Given the description of an element on the screen output the (x, y) to click on. 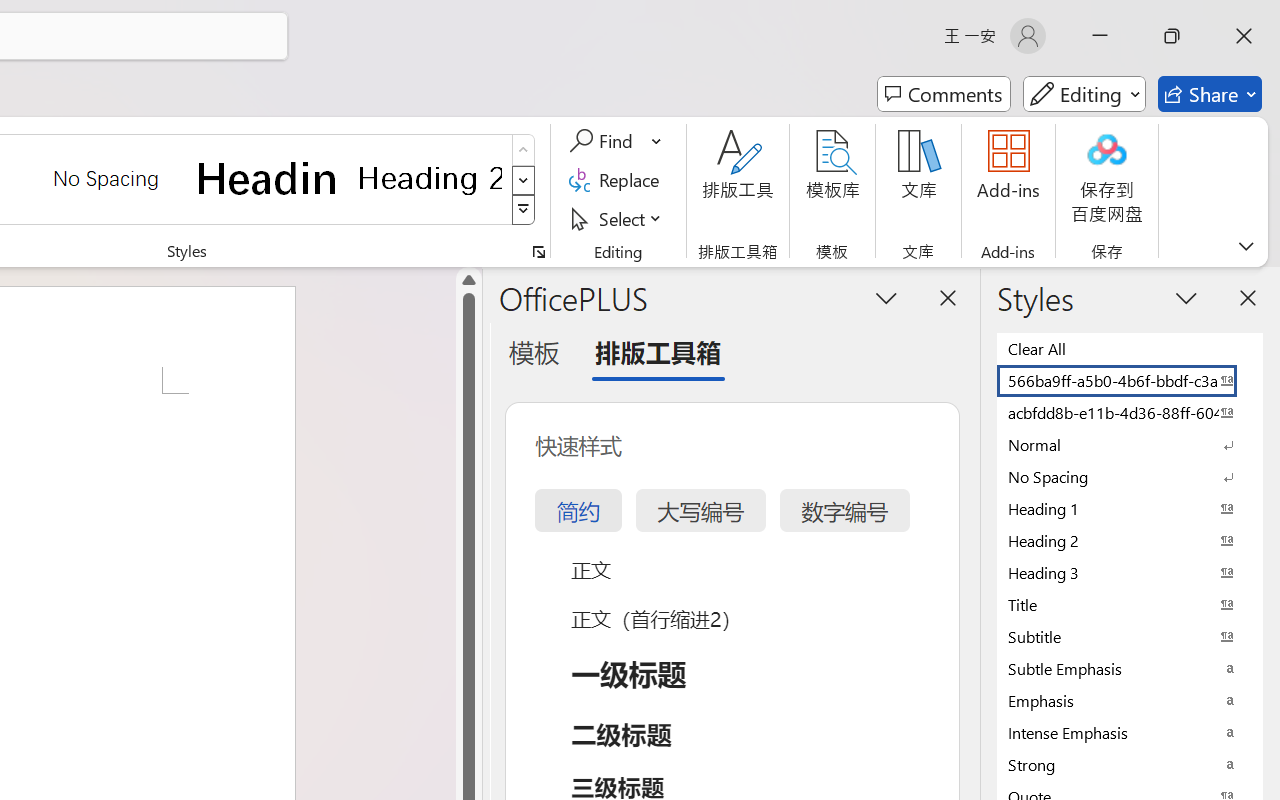
Heading 2 (429, 178)
Heading 1 (267, 178)
Subtitle (1130, 636)
